Given the description of an element on the screen output the (x, y) to click on. 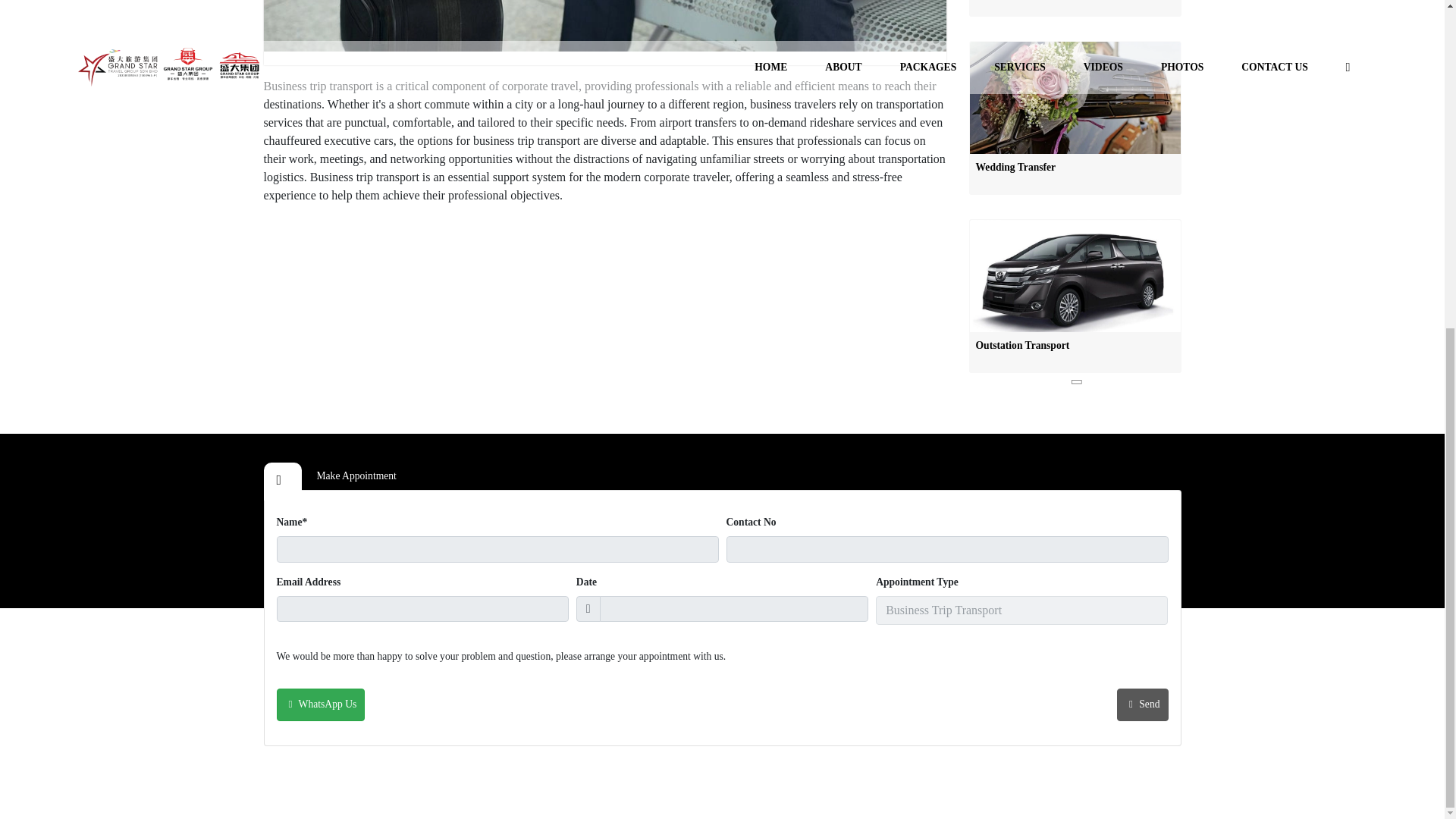
VIP Meeting Transfer (1074, 7)
Wedding Transfer (1074, 117)
Outstation Transport (1074, 296)
